Given the description of an element on the screen output the (x, y) to click on. 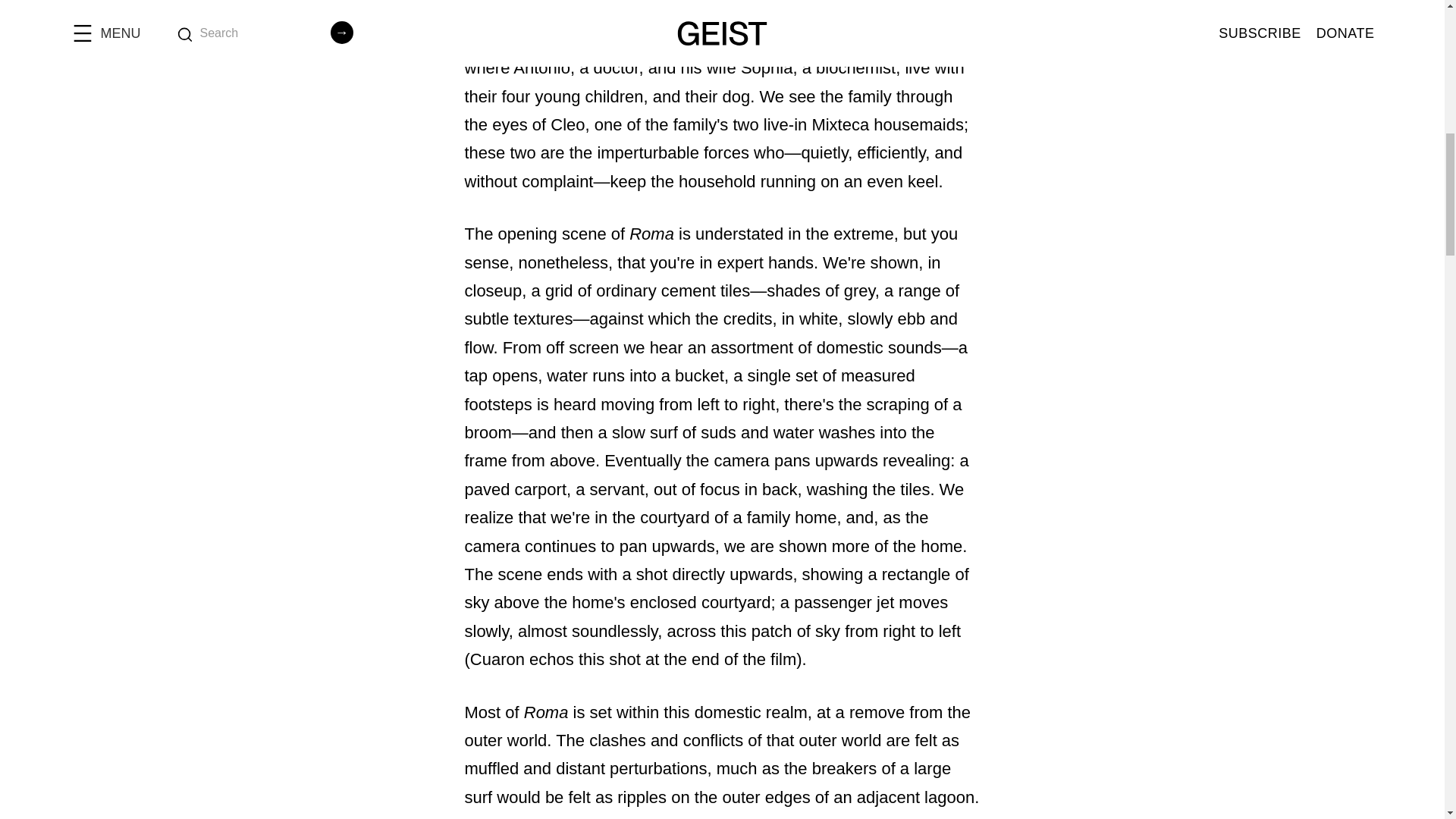
Mixteca (839, 124)
